Given the description of an element on the screen output the (x, y) to click on. 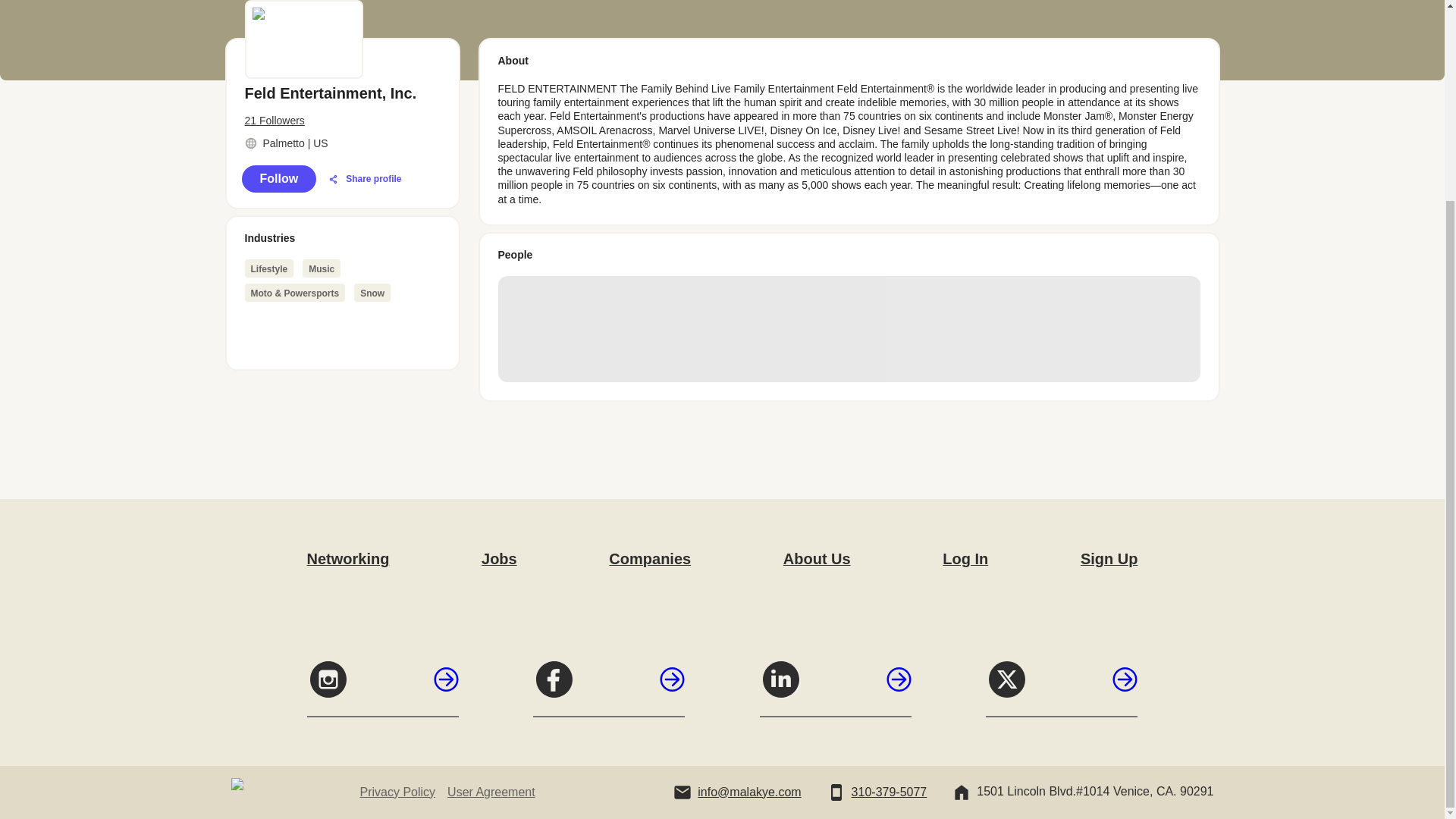
21 Followers (341, 120)
Networking (346, 558)
Log In (965, 558)
310-379-5077 (889, 791)
User Agreement (490, 791)
Follow (278, 178)
About Us (816, 558)
Share profile (364, 179)
Jobs (498, 558)
Companies (649, 558)
Sign Up (1109, 558)
Privacy Policy (397, 791)
